Given the description of an element on the screen output the (x, y) to click on. 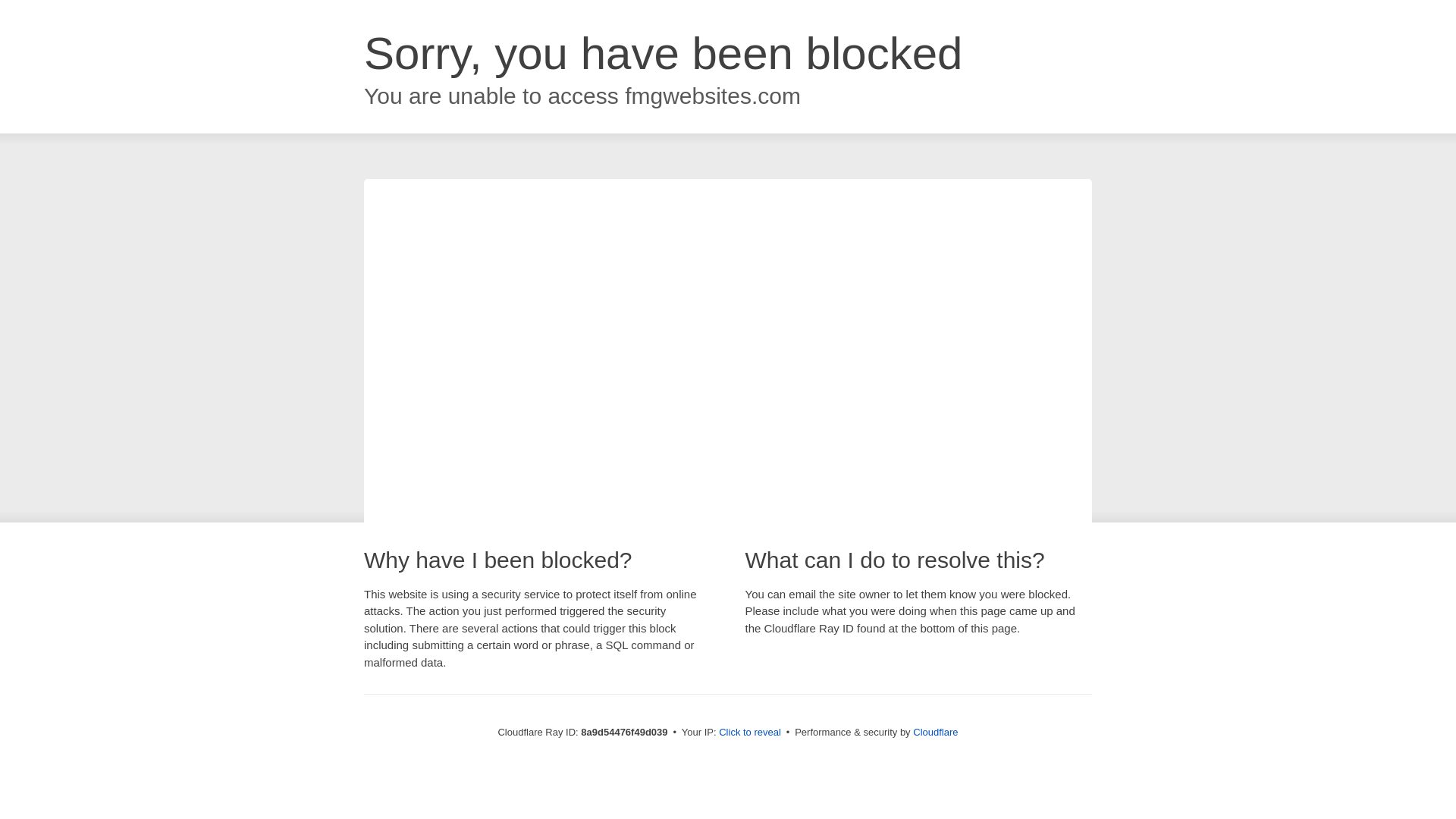
Cloudflare (935, 731)
Click to reveal (749, 732)
